Given the description of an element on the screen output the (x, y) to click on. 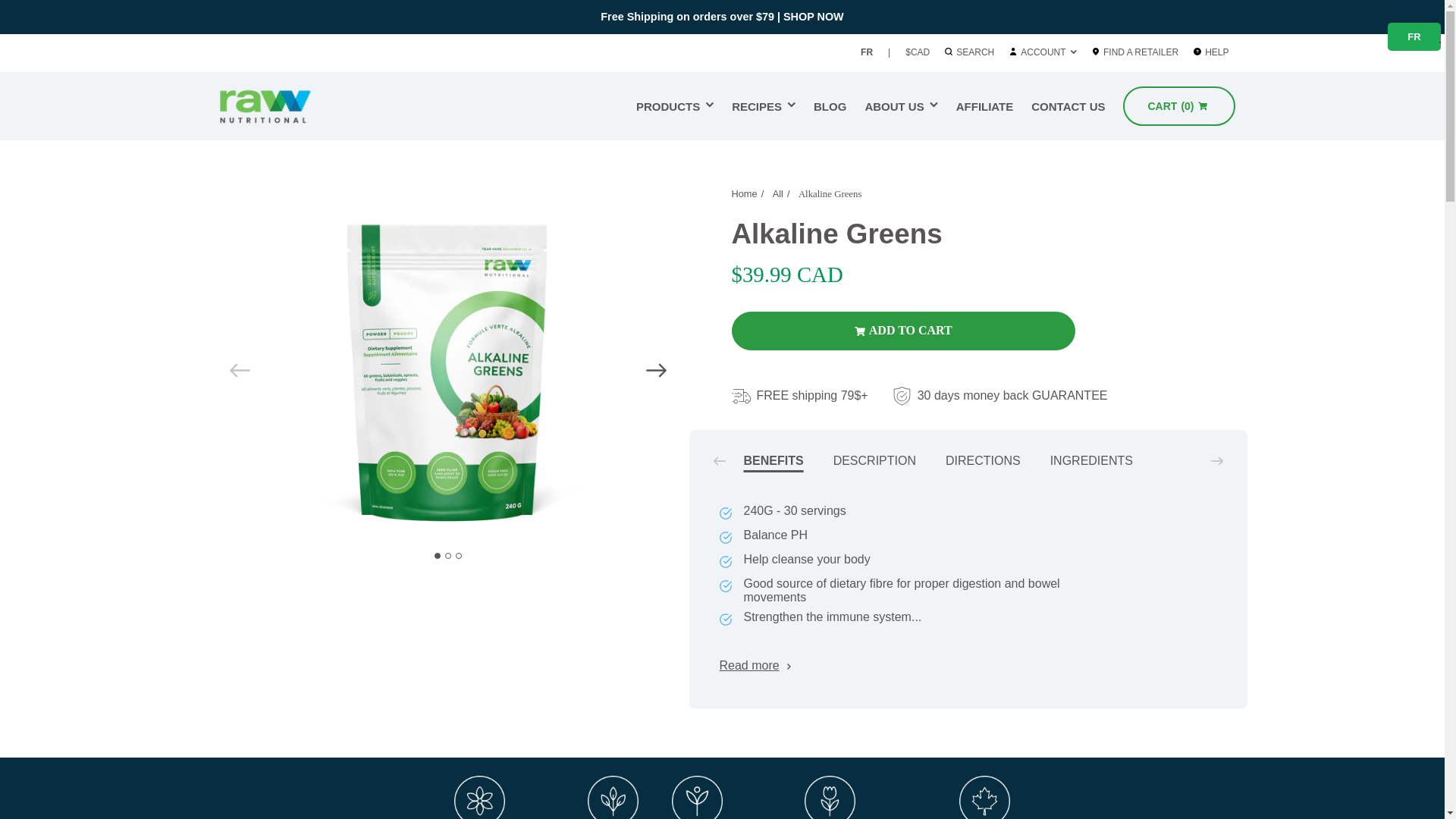
FR (674, 106)
EXPAND (1414, 37)
RAW Nutritional (1073, 52)
ACCOUNT (900, 106)
FR (284, 106)
BLOG (1042, 52)
FIND A RETAILER (866, 52)
EXPAND (763, 106)
HELP (829, 106)
EXPAND (1142, 52)
EXPAND (933, 104)
